Given the description of an element on the screen output the (x, y) to click on. 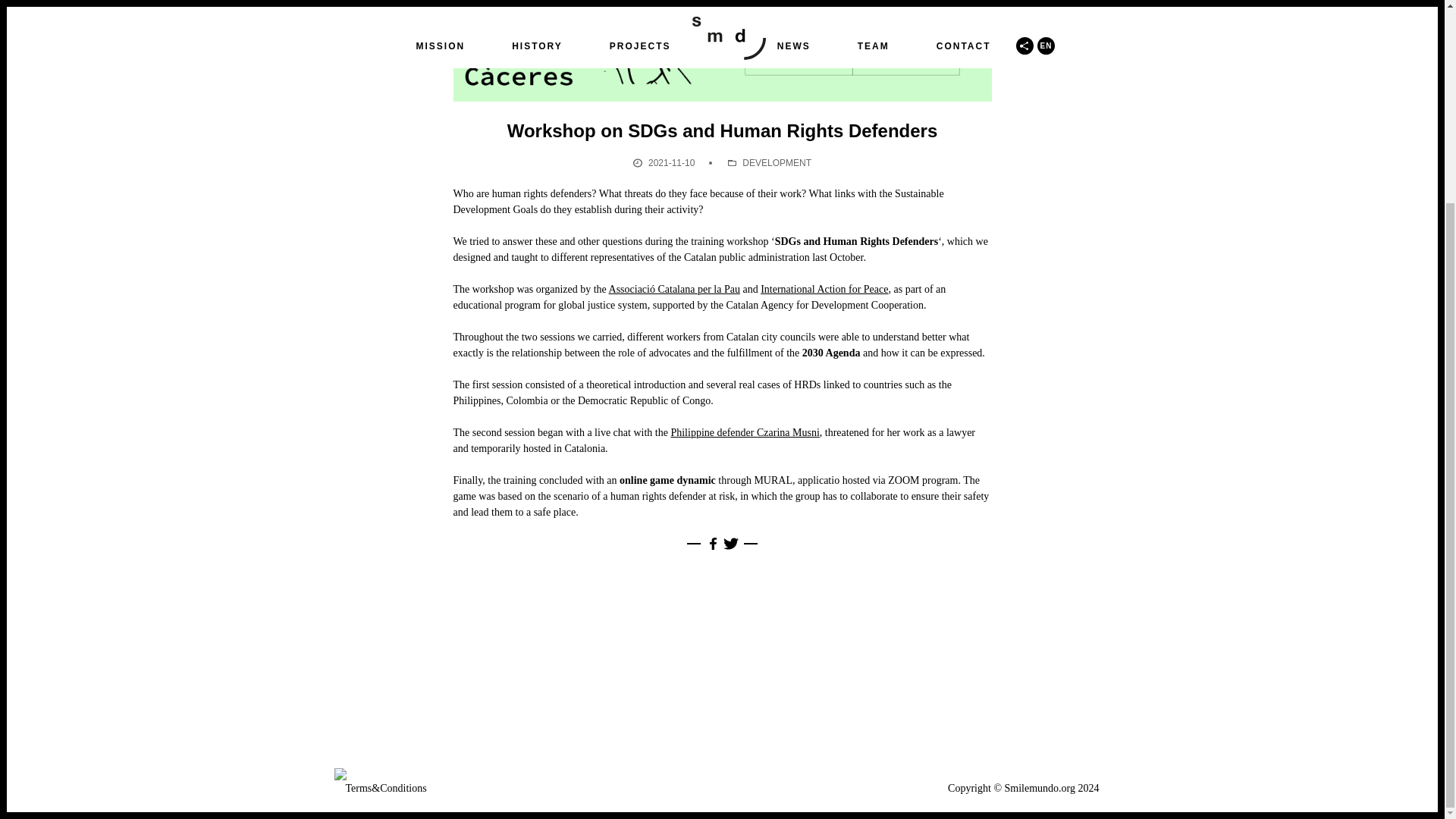
International Action for Peace (824, 288)
Workshop on SDGs and Human Rights Defenders (721, 72)
Workshop on SDGs and Human Rights Defenders (721, 72)
Philippine defender Czarina Musni (743, 432)
DEVELOPMENT (776, 163)
